Given the description of an element on the screen output the (x, y) to click on. 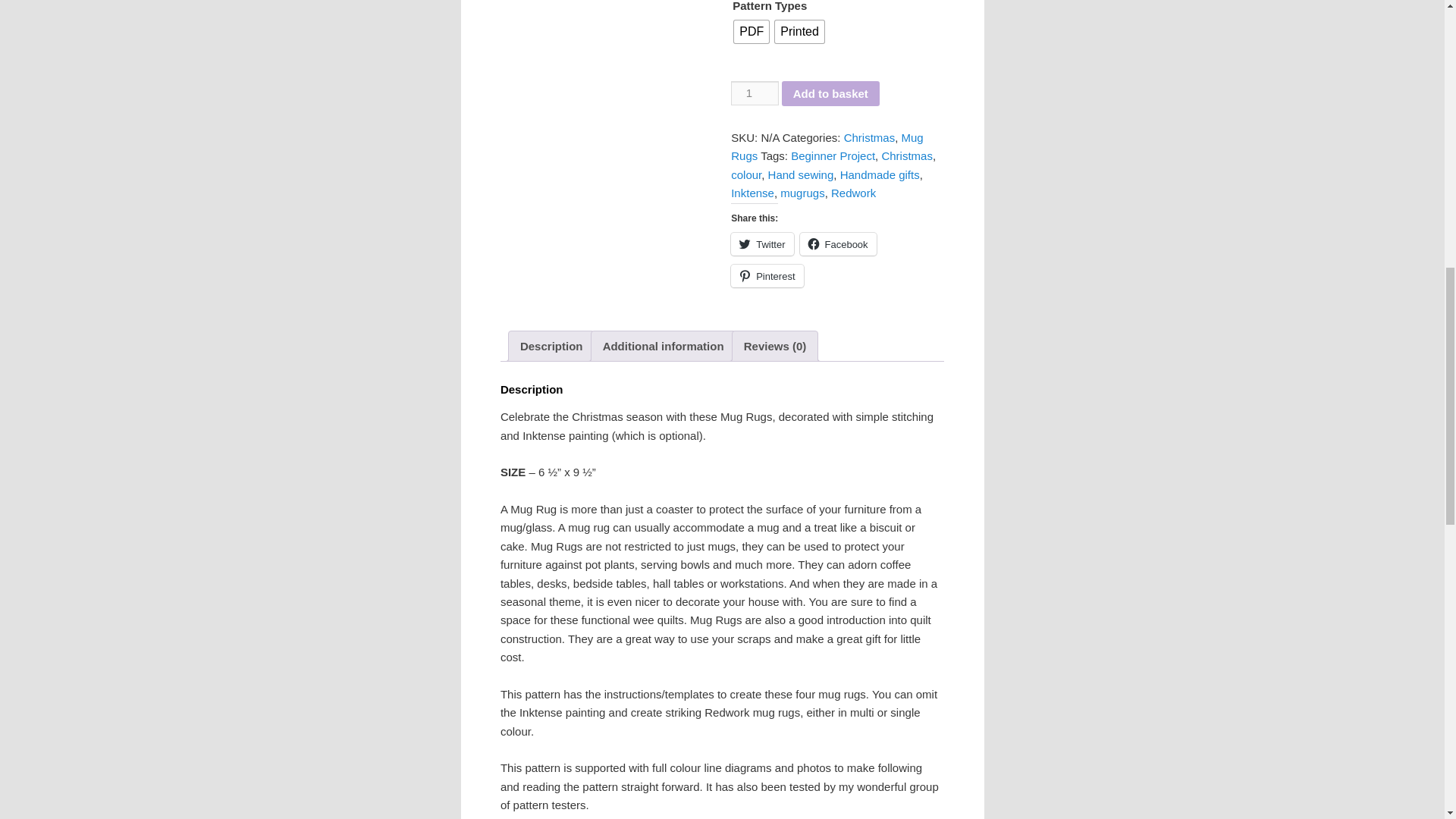
Click to share on Facebook (837, 243)
Handmade gifts (880, 174)
Facebook (837, 243)
Add to basket (830, 94)
Pinterest (766, 275)
Redwork (853, 192)
Click to share on Pinterest (766, 275)
PDF (750, 31)
1 (753, 93)
Hand sewing (801, 174)
Printed (799, 31)
Click to share on Twitter (761, 243)
Inktense (752, 192)
Christmas (906, 155)
Mug Rugs (826, 146)
